Given the description of an element on the screen output the (x, y) to click on. 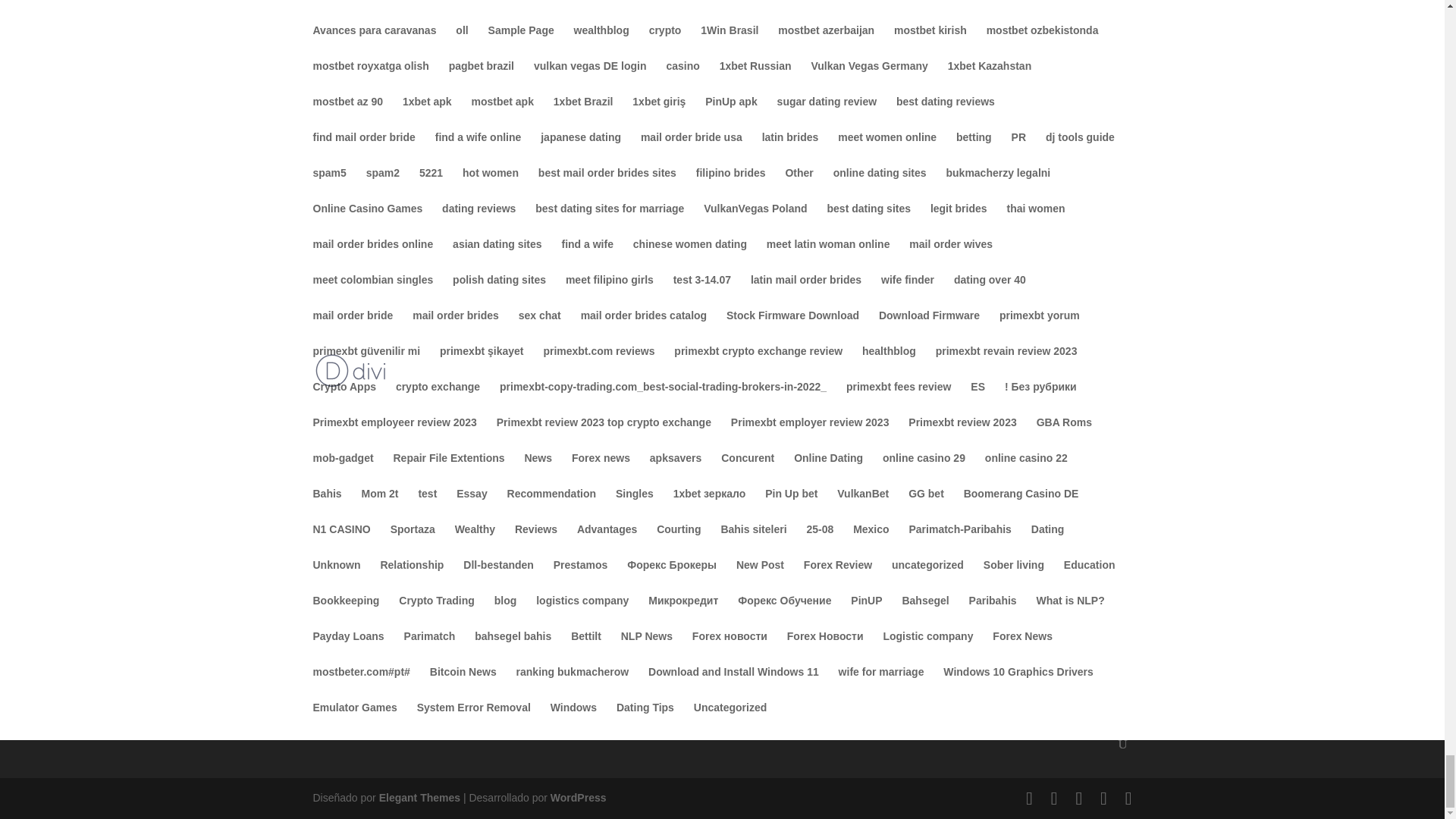
Premium WordPress Themes (419, 797)
